Given the description of an element on the screen output the (x, y) to click on. 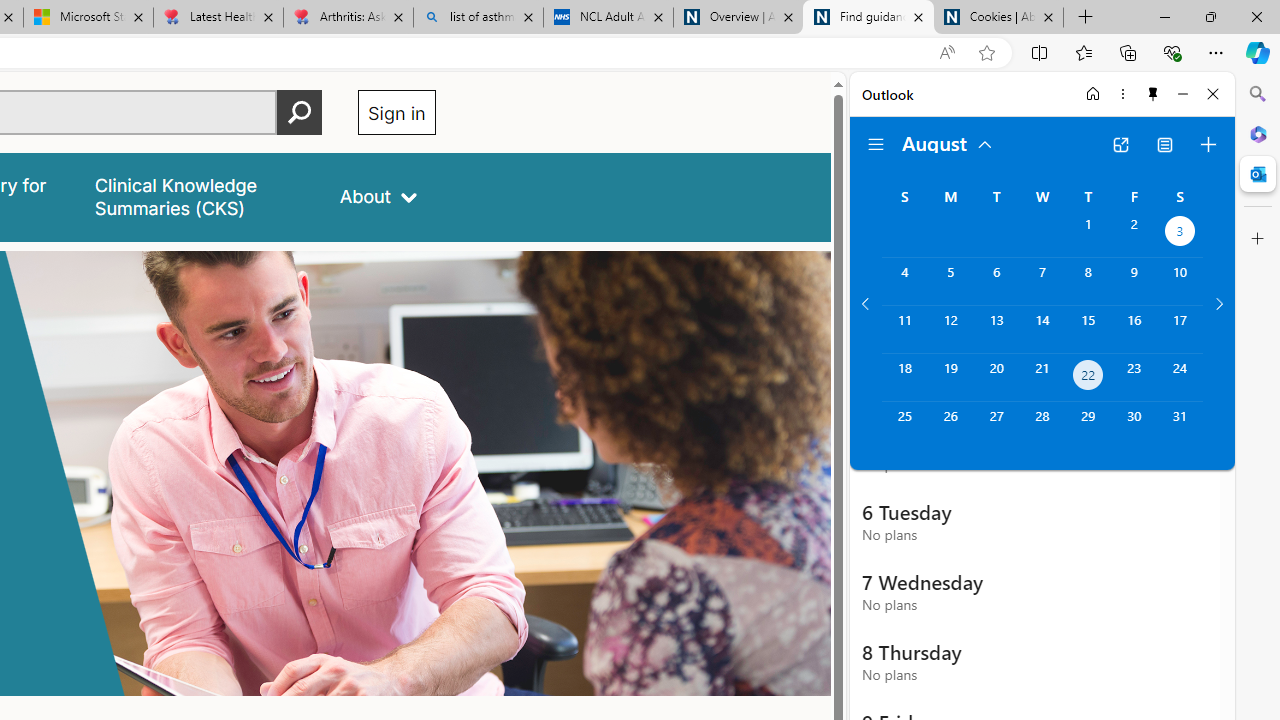
Monday, August 26, 2024.  (950, 425)
Thursday, August 15, 2024.  (1088, 329)
Wednesday, August 28, 2024.  (1042, 425)
Wednesday, August 14, 2024.  (1042, 329)
Tuesday, August 6, 2024.  (996, 281)
Saturday, August 31, 2024.  (1180, 425)
Friday, August 2, 2024.  (1134, 233)
